Given the description of an element on the screen output the (x, y) to click on. 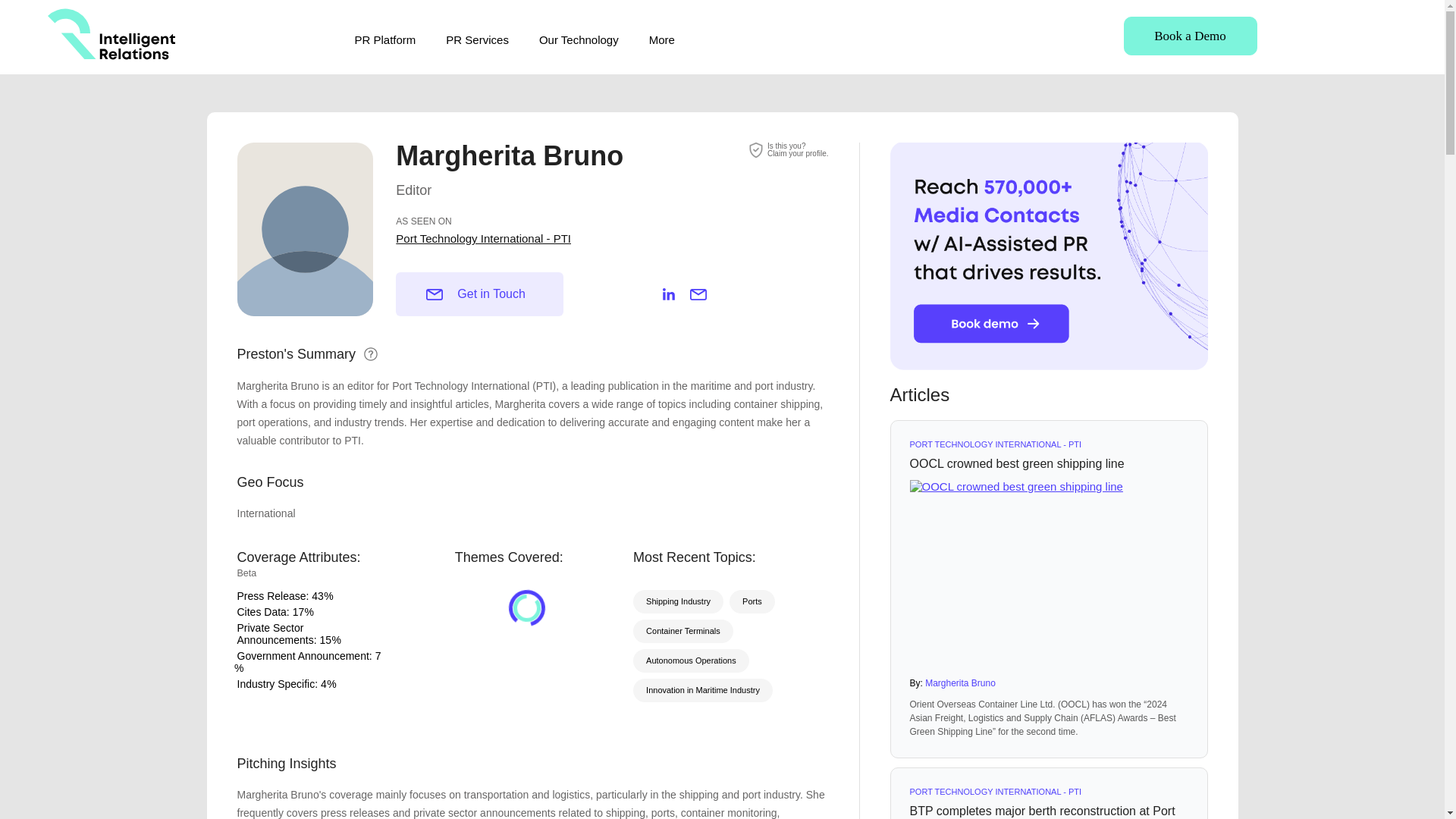
Port Technology International - PTI (483, 237)
More (662, 39)
PR Platform (385, 39)
43 (317, 595)
17 (298, 612)
Our Technology (578, 39)
15 (324, 639)
Book a Demo (1190, 35)
PR Services (476, 39)
Get in Touch (479, 293)
